Given the description of an element on the screen output the (x, y) to click on. 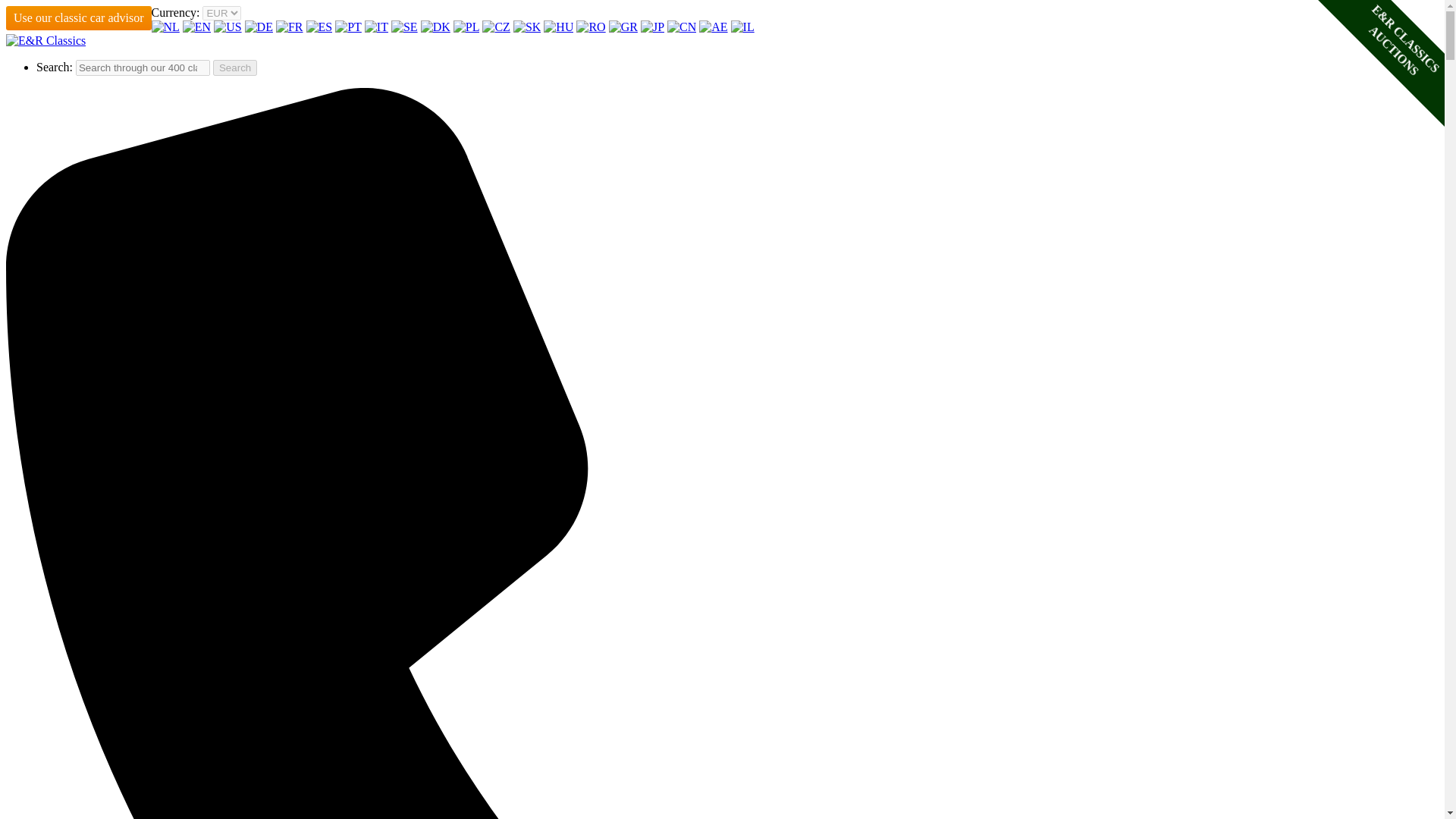
Search (234, 67)
Your Currency (221, 12)
Use our classic car advisor (78, 17)
Search (234, 67)
